Given the description of an element on the screen output the (x, y) to click on. 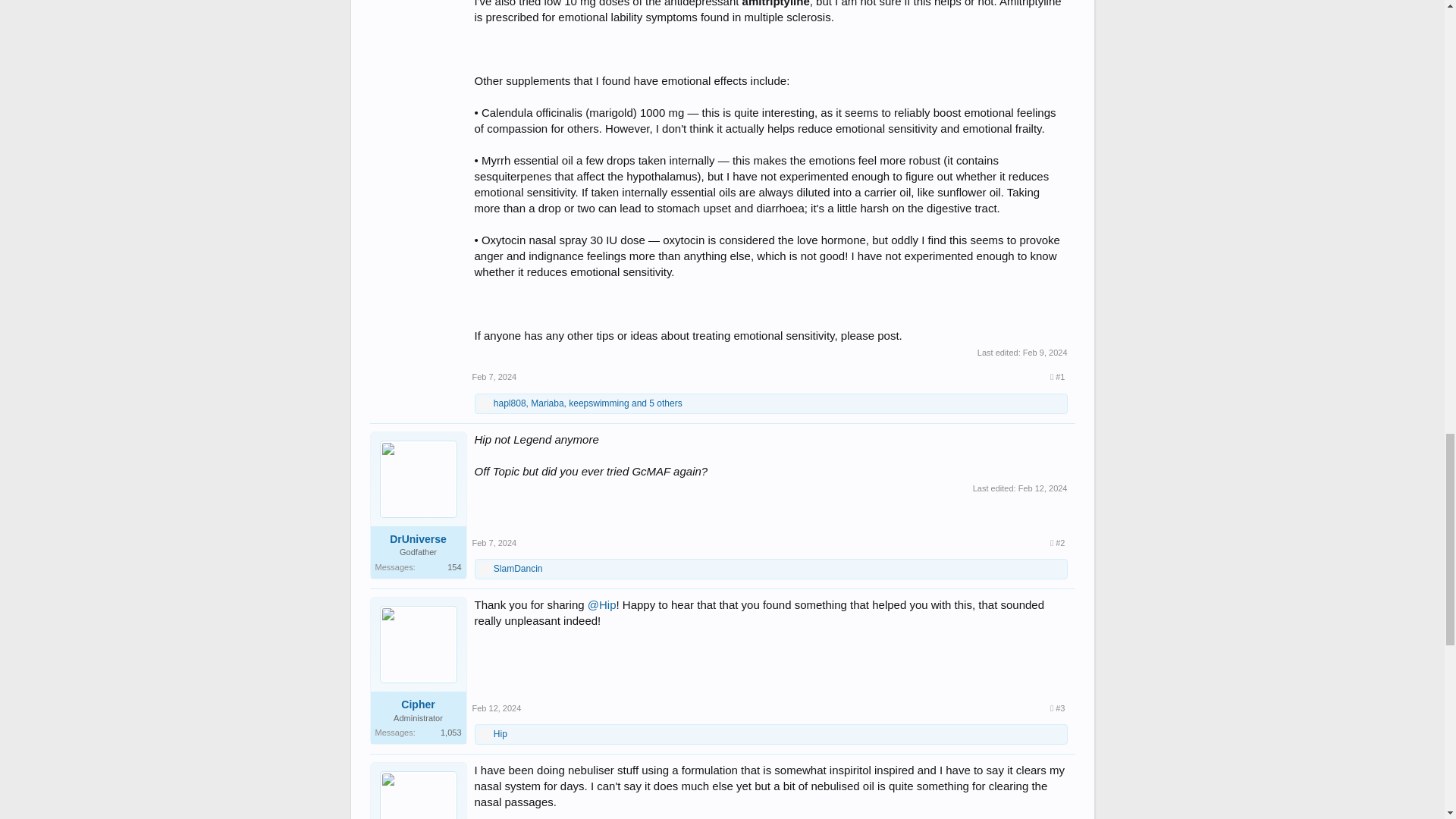
Feb 7, 2024 at 1:51 PM (493, 542)
Feb 9, 2024 at 12:05 PM (1045, 352)
Feb 12, 2024 at 9:06 AM (496, 707)
Feb 12, 2024 at 6:35 PM (1042, 488)
Like (485, 404)
Like (485, 734)
Like (485, 569)
Feb 7, 2024 at 1:15 PM (493, 376)
